Given the description of an element on the screen output the (x, y) to click on. 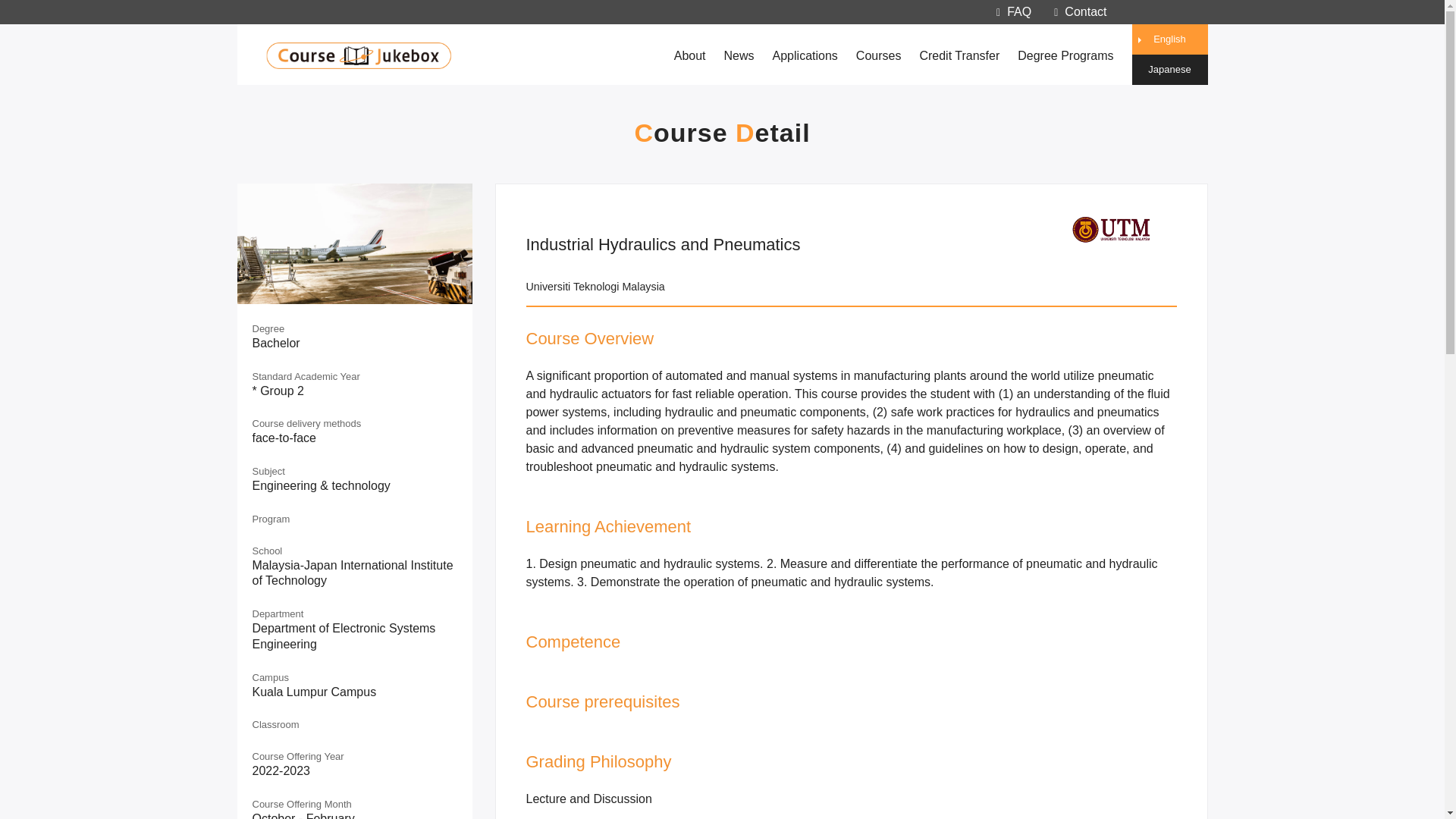
About (690, 55)
Credit Transfer (958, 55)
Courses (878, 55)
english (1169, 39)
Degree Programs (1065, 55)
English (1169, 39)
News (738, 55)
FAQ (1012, 11)
japanese (1169, 69)
Japanese (1169, 69)
Applications (805, 55)
Contact (1080, 11)
